Given the description of an element on the screen output the (x, y) to click on. 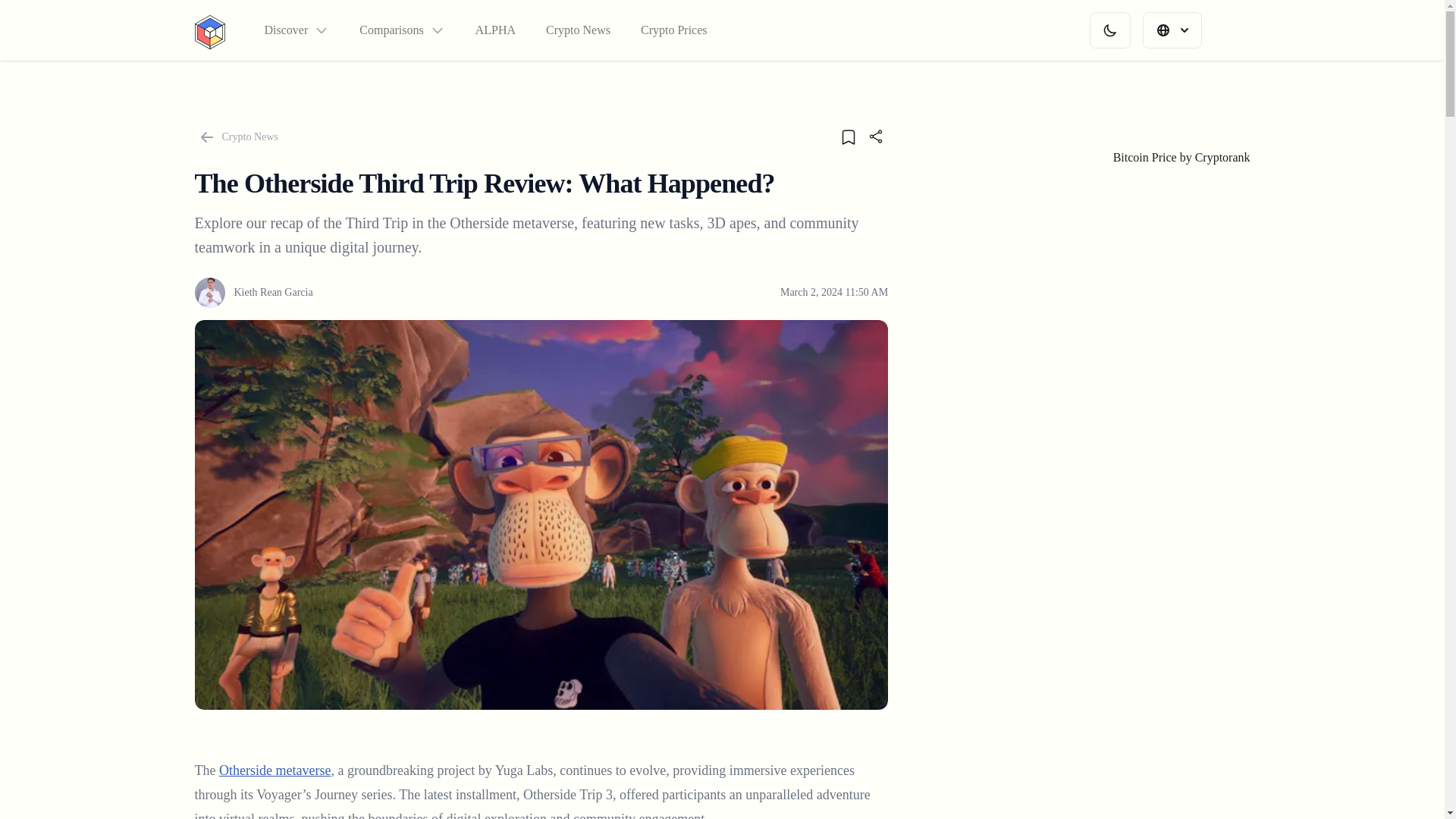
Discover (296, 30)
Switch to Dark Theme (1109, 30)
Kieth Rean Garcia (253, 292)
Save (847, 137)
Crypto News (235, 137)
Bitcoin Price by Cryptorank (1181, 156)
Comparisons (401, 30)
Crypto Prices (673, 30)
Otherside metaverse (274, 770)
ALPHA (495, 30)
